Given the description of an element on the screen output the (x, y) to click on. 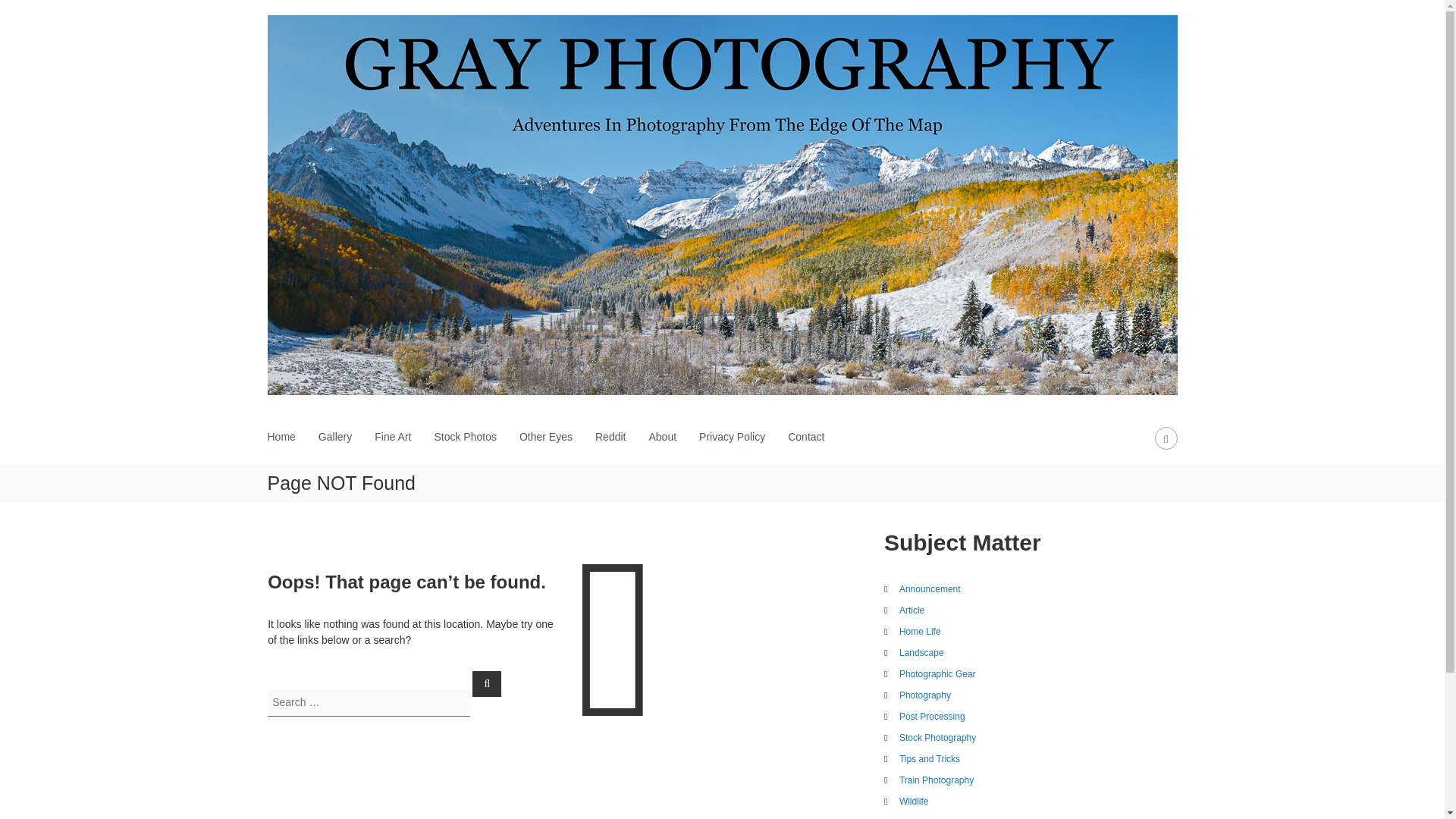
Home (280, 436)
Stock Photos (464, 436)
Contact (805, 436)
Announcement (929, 588)
Search (485, 683)
Photography (924, 695)
Other Eyes (545, 436)
Gallery (335, 436)
Fine Art (392, 436)
Home Life (919, 631)
Stock Photography (937, 737)
Wildlife (913, 801)
Article (911, 610)
Tips and Tricks (929, 758)
About (662, 436)
